Given the description of an element on the screen output the (x, y) to click on. 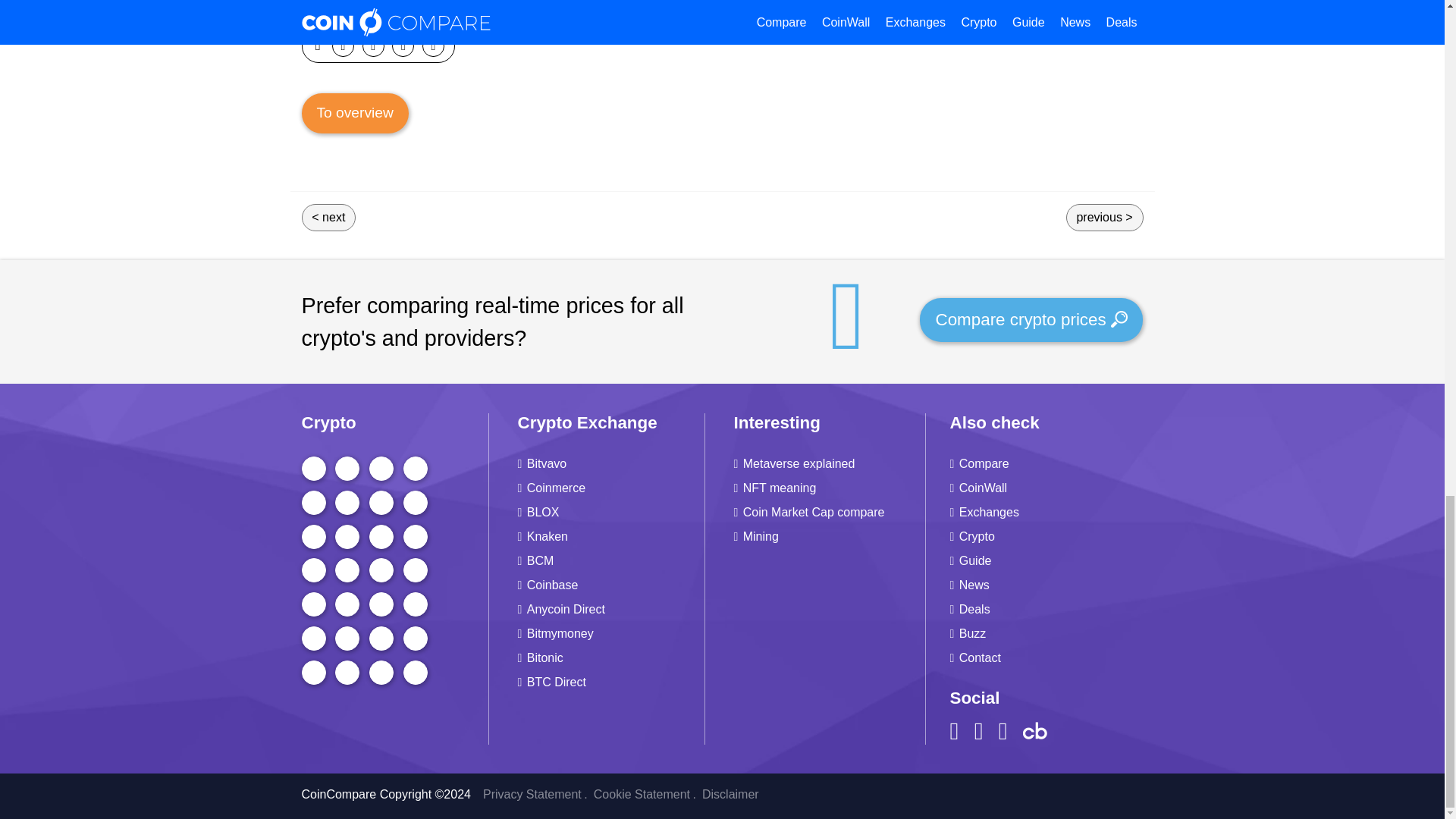
Compound (313, 604)
TRON (313, 502)
Internet Computer (415, 502)
Cardano (415, 468)
NEO (381, 569)
Bitcoin (313, 468)
Crypto (398, 423)
Dogecoin (381, 468)
Stellar (313, 536)
IOTA (313, 569)
